Given the description of an element on the screen output the (x, y) to click on. 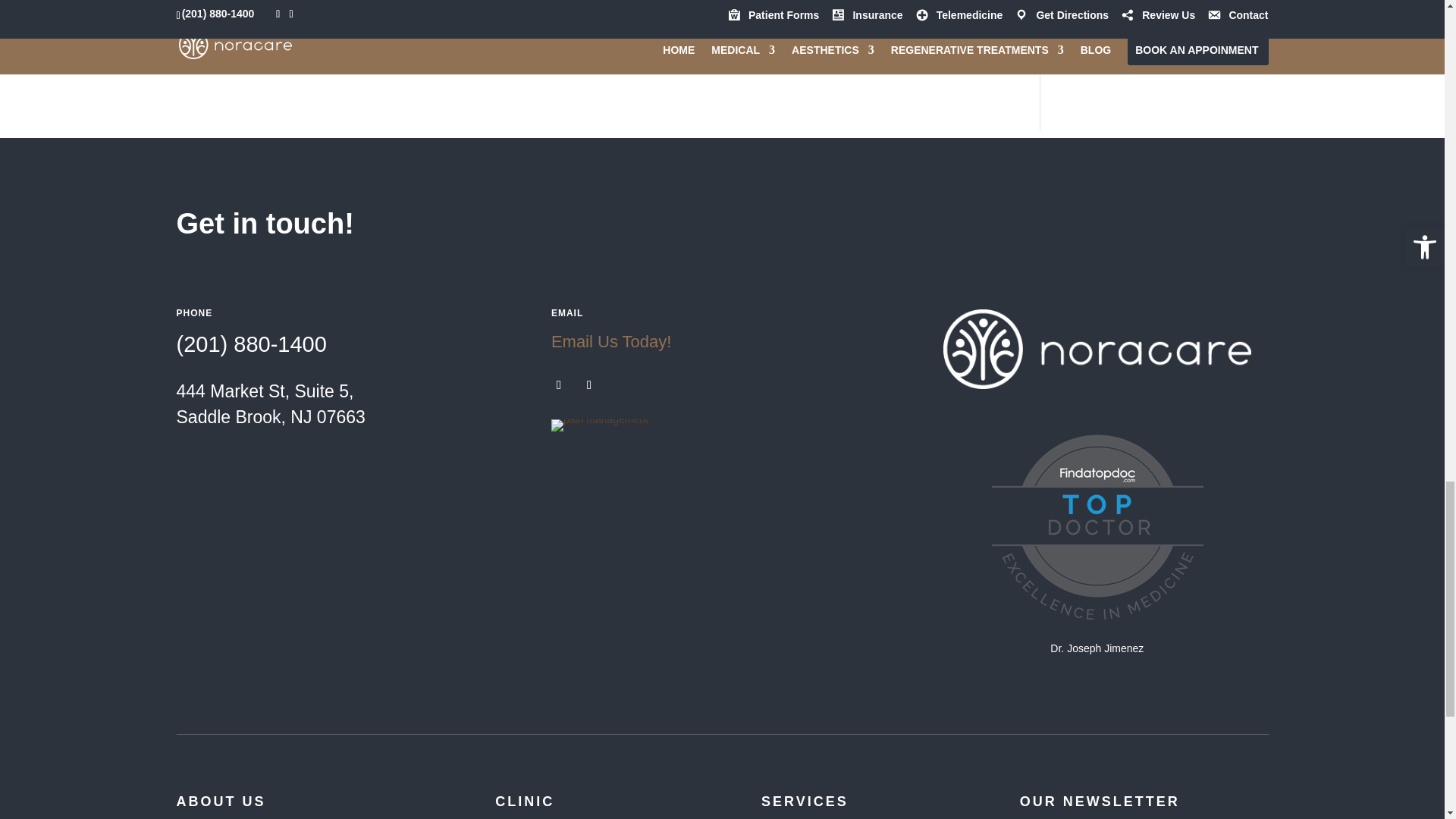
Reddit (315, 33)
X (259, 33)
Facebook (203, 33)
Linkedin (372, 33)
